Given the description of an element on the screen output the (x, y) to click on. 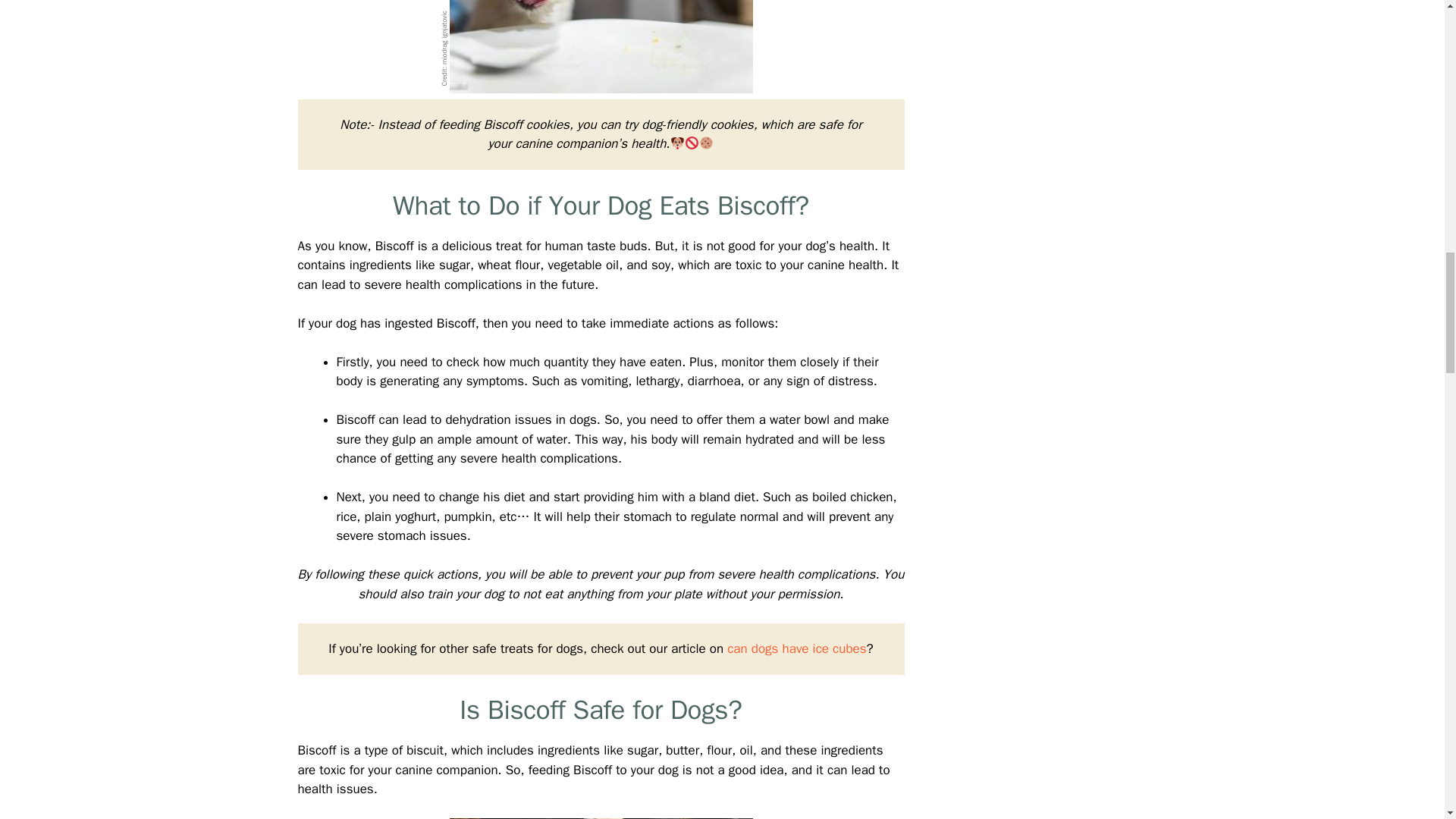
can dogs have ice cubes (796, 648)
